Given the description of an element on the screen output the (x, y) to click on. 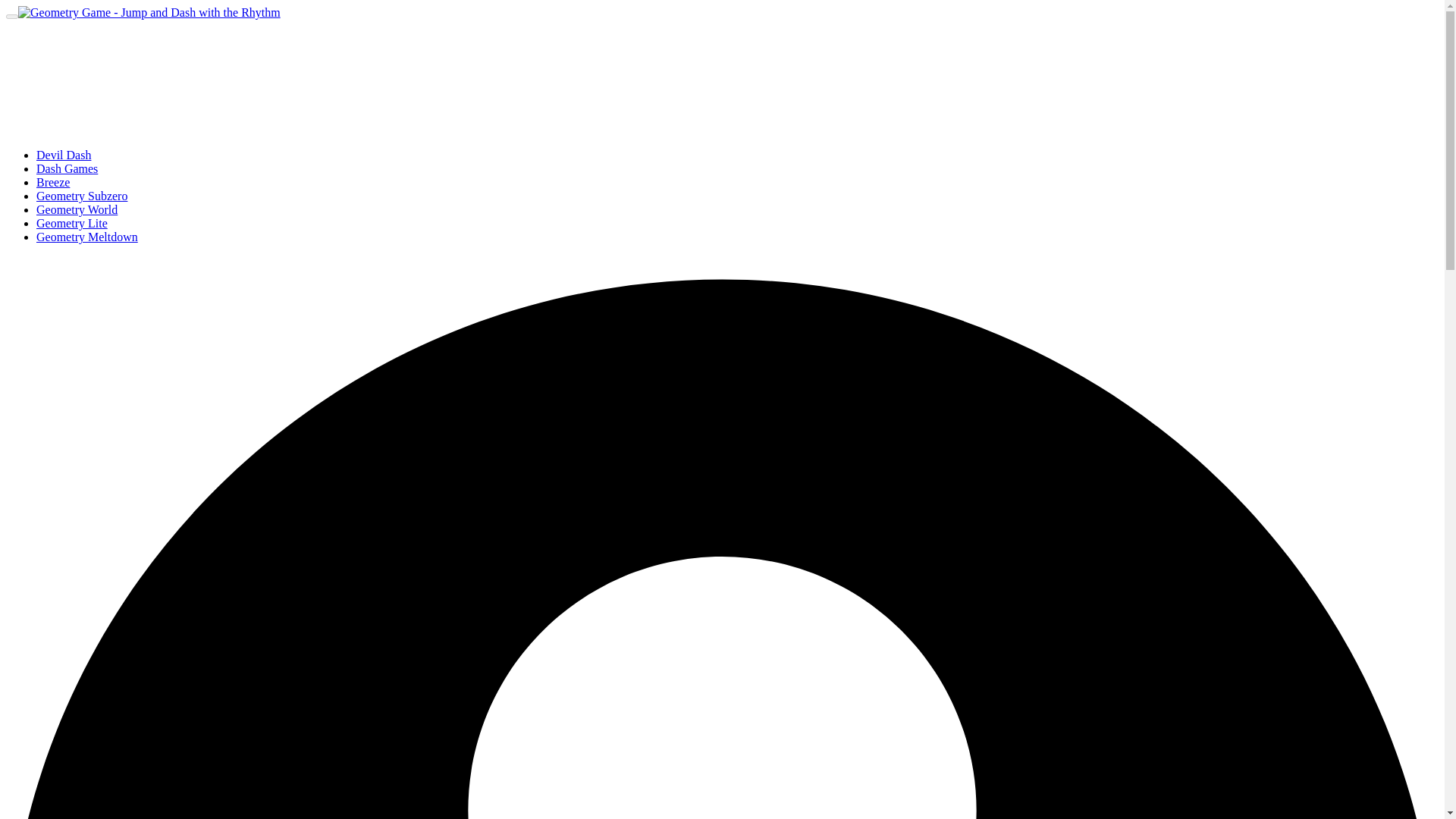
Dash Games (66, 168)
Breeze (52, 182)
Geometry World (76, 209)
Geometry Meltdown (87, 236)
Devil Dash (63, 154)
Geometry Lite (71, 223)
Geometry Subzero (82, 195)
Geometry Lite (71, 223)
Geometry Meltdown (87, 236)
Geometry Subzero (82, 195)
Devil Dash (63, 154)
Geometry World (76, 209)
Breeze (52, 182)
Dash Games (66, 168)
Geometry Game - Jump and Dash with the Rhythm (149, 11)
